Given the description of an element on the screen output the (x, y) to click on. 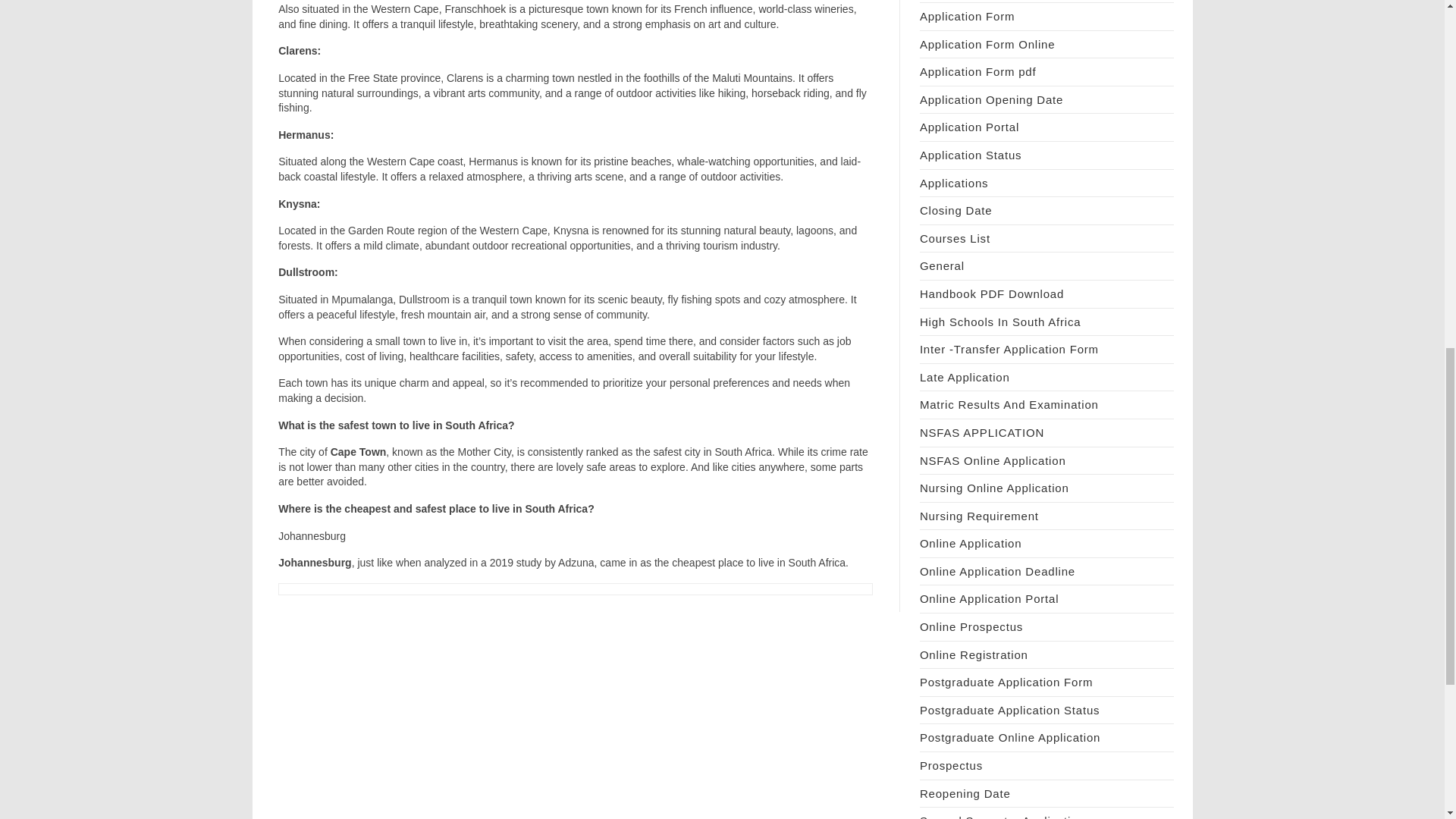
Online Application (971, 543)
Application Form pdf (978, 71)
NSFAS Online Application (992, 460)
Application Form (967, 15)
Applications (954, 182)
Nursing Requirement (979, 515)
Application Opening Date (991, 99)
Online Application Deadline (997, 571)
Matric Results And Examination (1009, 404)
General (941, 265)
